Given the description of an element on the screen output the (x, y) to click on. 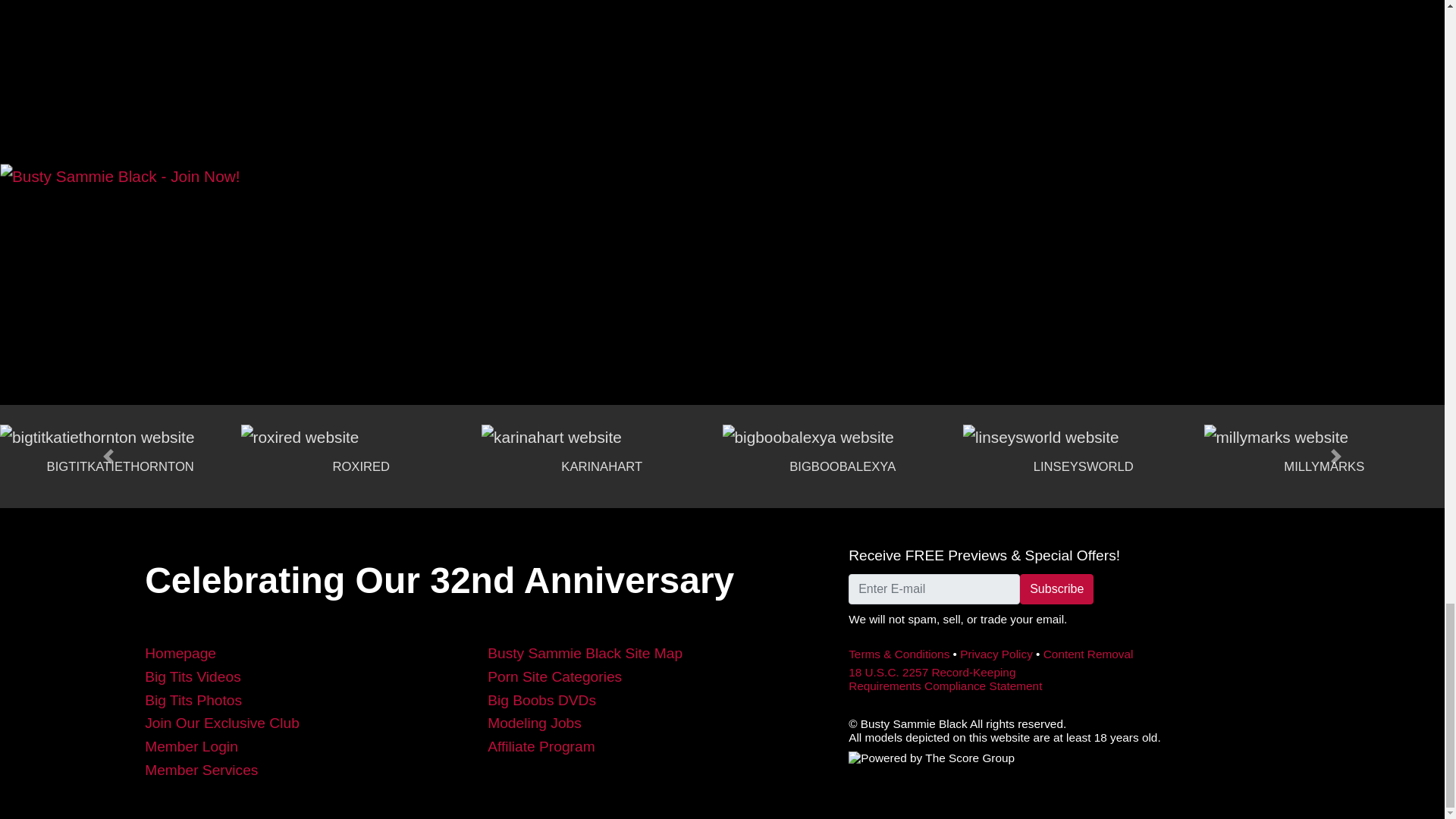
Powered by The Score Group (931, 757)
